Given the description of an element on the screen output the (x, y) to click on. 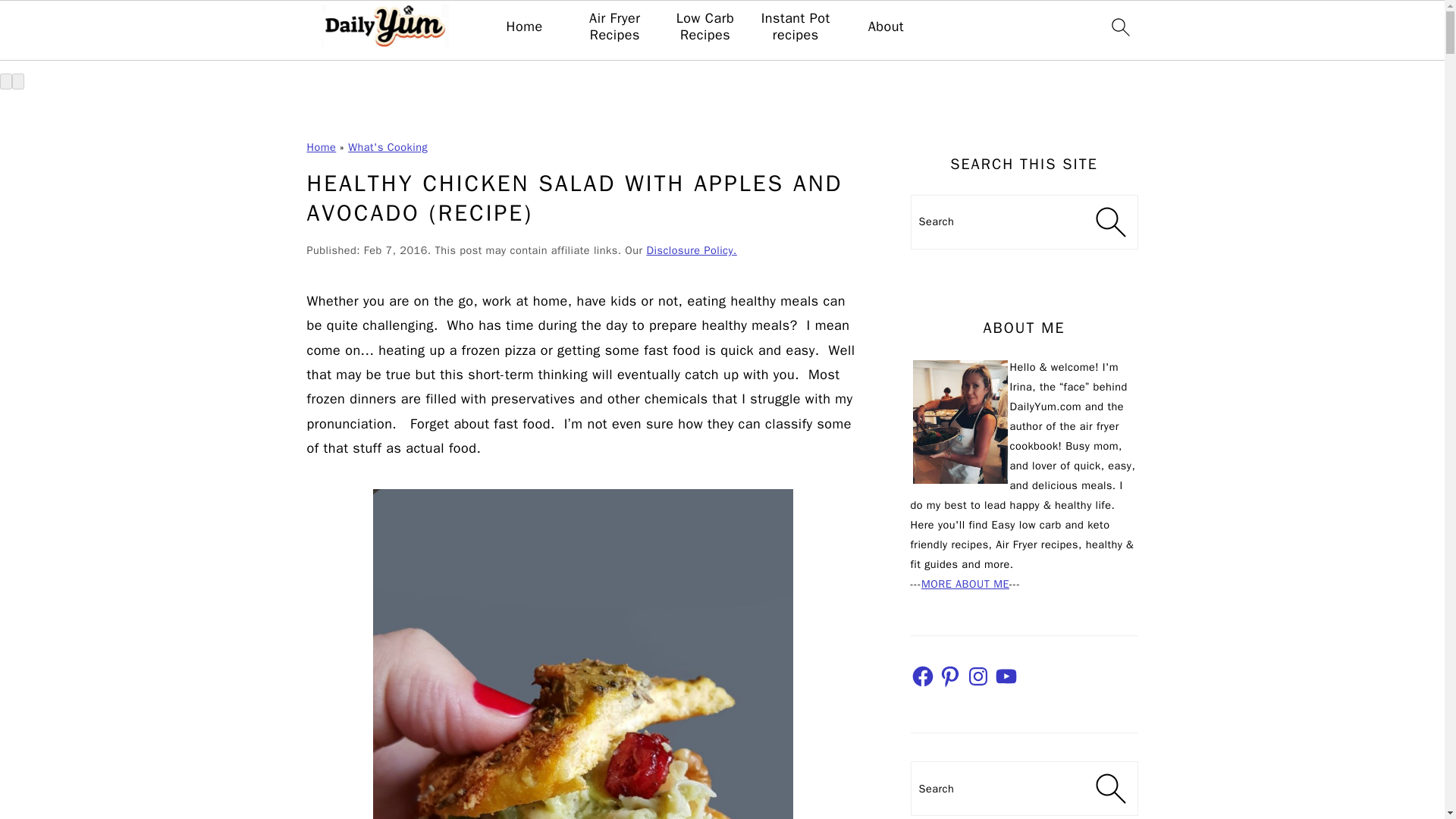
Air Fryer Recipes (615, 26)
Disclosure Policy. (691, 250)
What's Cooking (387, 146)
Low Carb Recipes (705, 26)
Instant Pot recipes (795, 26)
About (885, 27)
Home (524, 27)
search icon (1119, 26)
Home (320, 146)
